Given the description of an element on the screen output the (x, y) to click on. 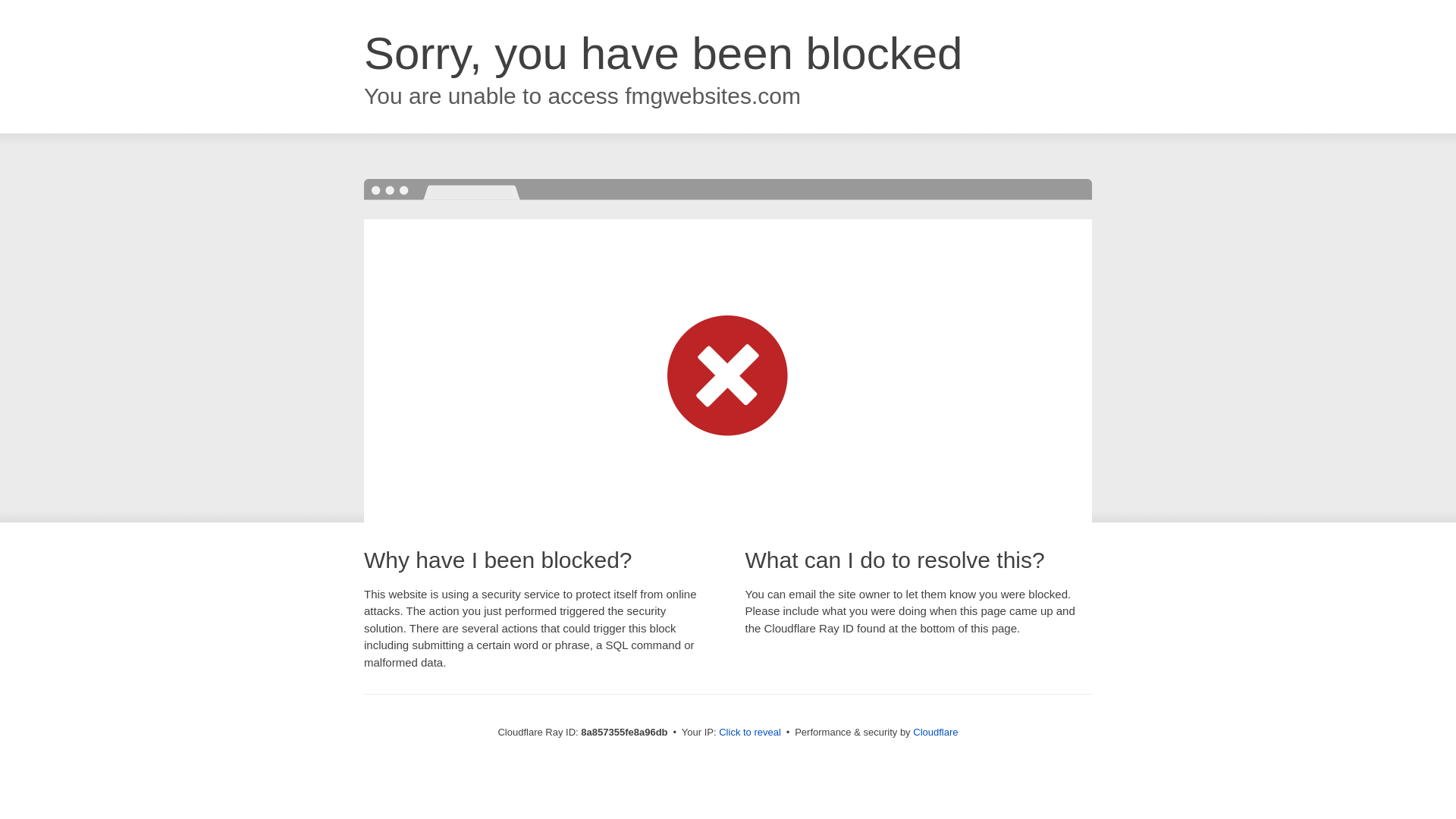
Click to reveal (749, 732)
Cloudflare (935, 731)
